Given the description of an element on the screen output the (x, y) to click on. 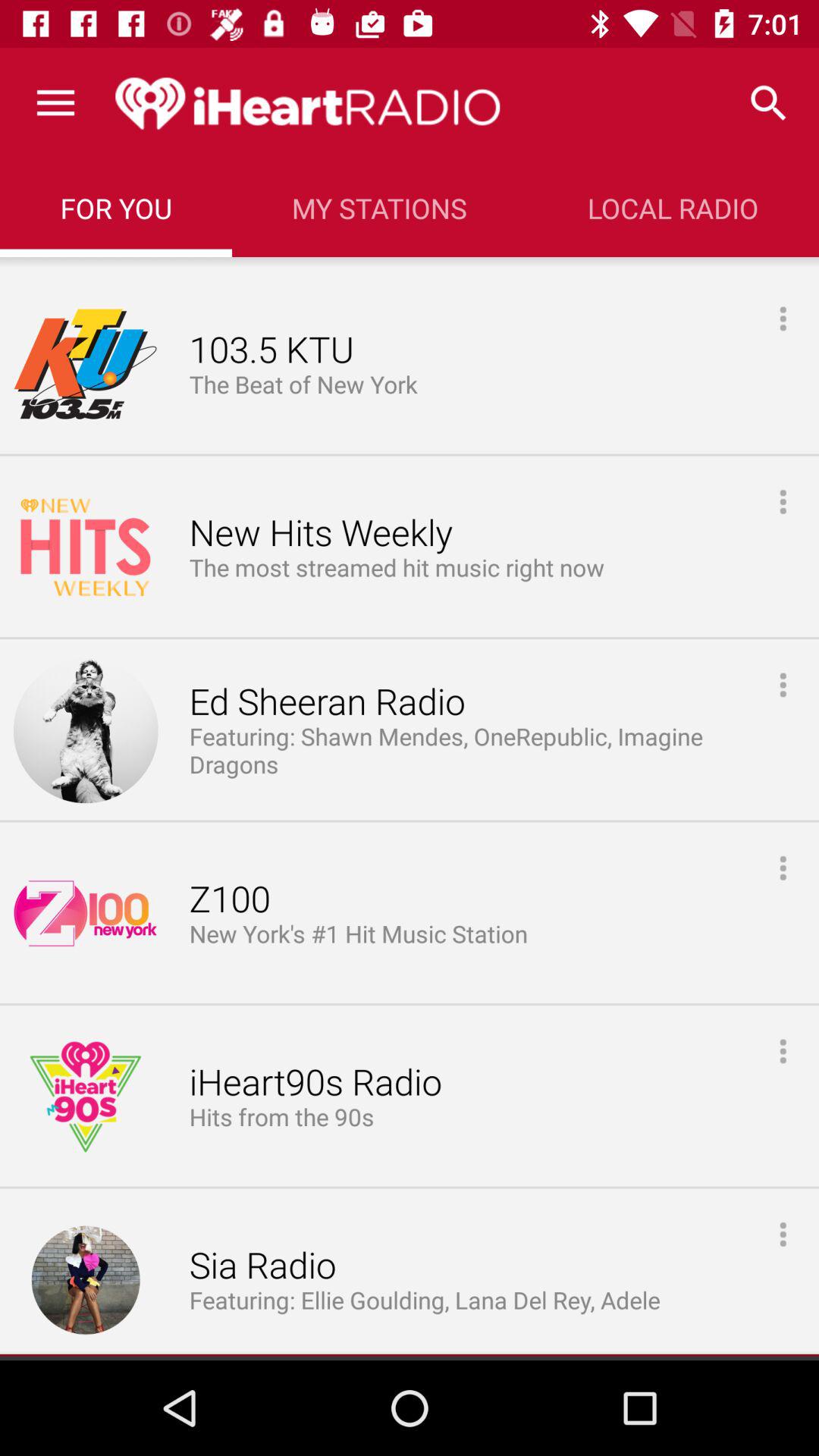
tap icon next to the my stations (116, 208)
